Given the description of an element on the screen output the (x, y) to click on. 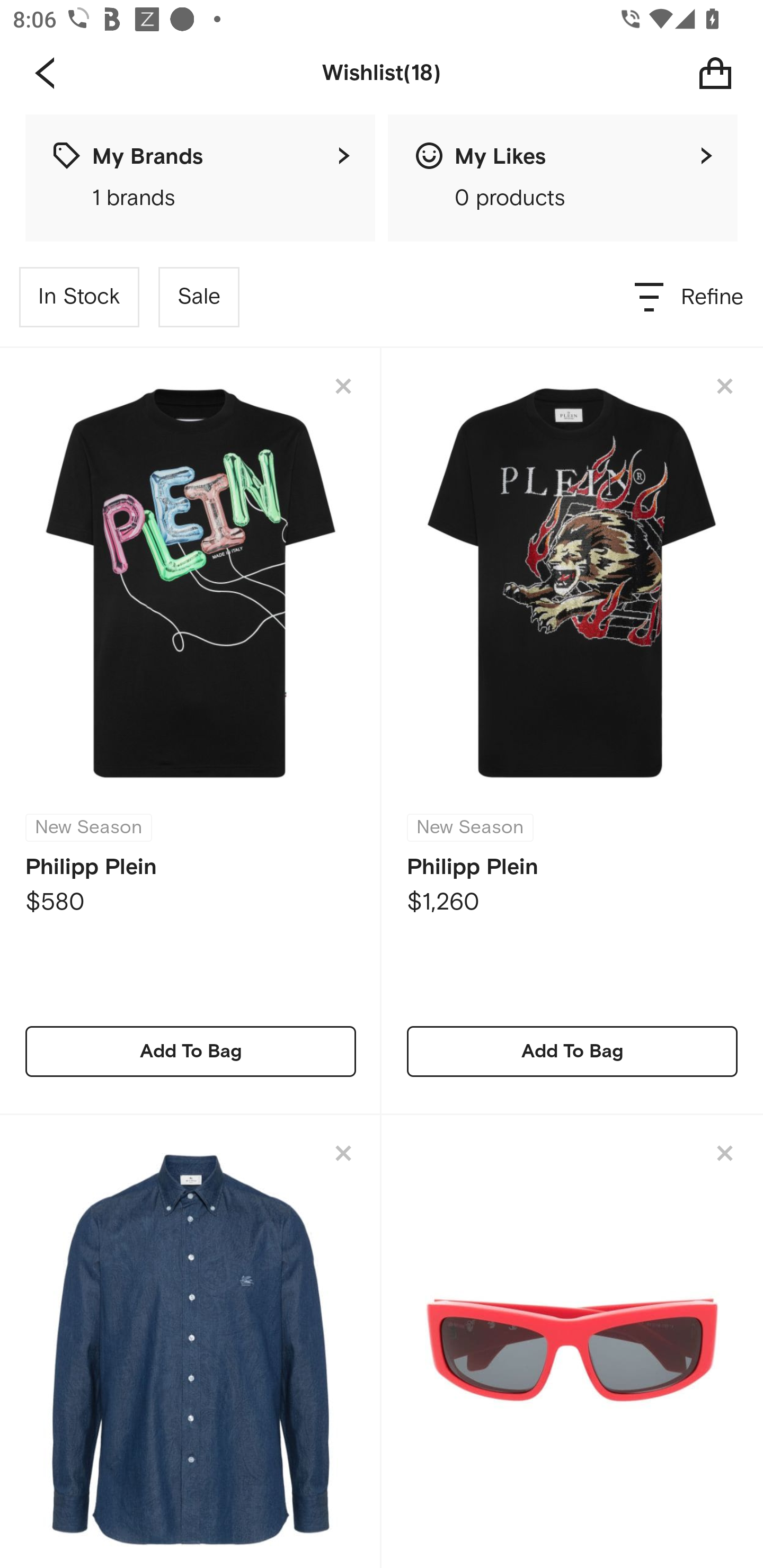
My Brands 1 brands (200, 177)
My Likes 0 products (562, 177)
In Stock (79, 296)
Sale (198, 296)
Refine (690, 296)
New Season Philipp Plein $580 Add To Bag (190, 731)
New Season Philipp Plein $1,260 Add To Bag (572, 731)
Add To Bag (190, 1050)
Add To Bag (571, 1050)
